Given the description of an element on the screen output the (x, y) to click on. 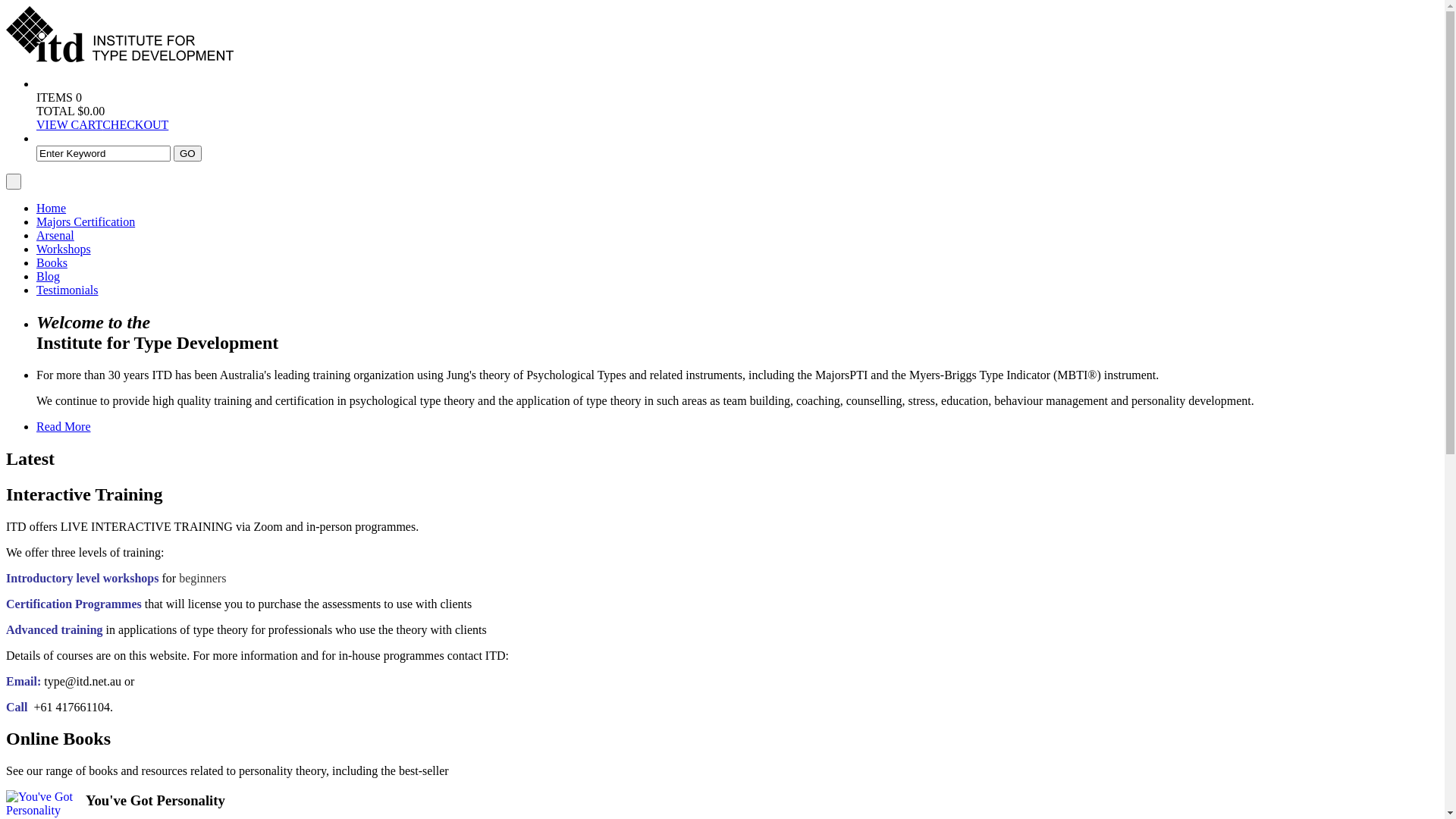
CHECKOUT Element type: text (135, 124)
Blog Element type: text (47, 275)
MaryMac Books Element type: hover (119, 57)
GO Element type: text (187, 153)
VIEW CART Element type: text (69, 124)
Home Element type: text (50, 207)
Majors Certification Element type: text (85, 221)
Read More Element type: text (63, 426)
Arsenal Element type: text (55, 235)
  Element type: text (13, 181)
Testimonials Element type: text (67, 289)
Workshops Element type: text (63, 248)
Books Element type: text (51, 262)
